Given the description of an element on the screen output the (x, y) to click on. 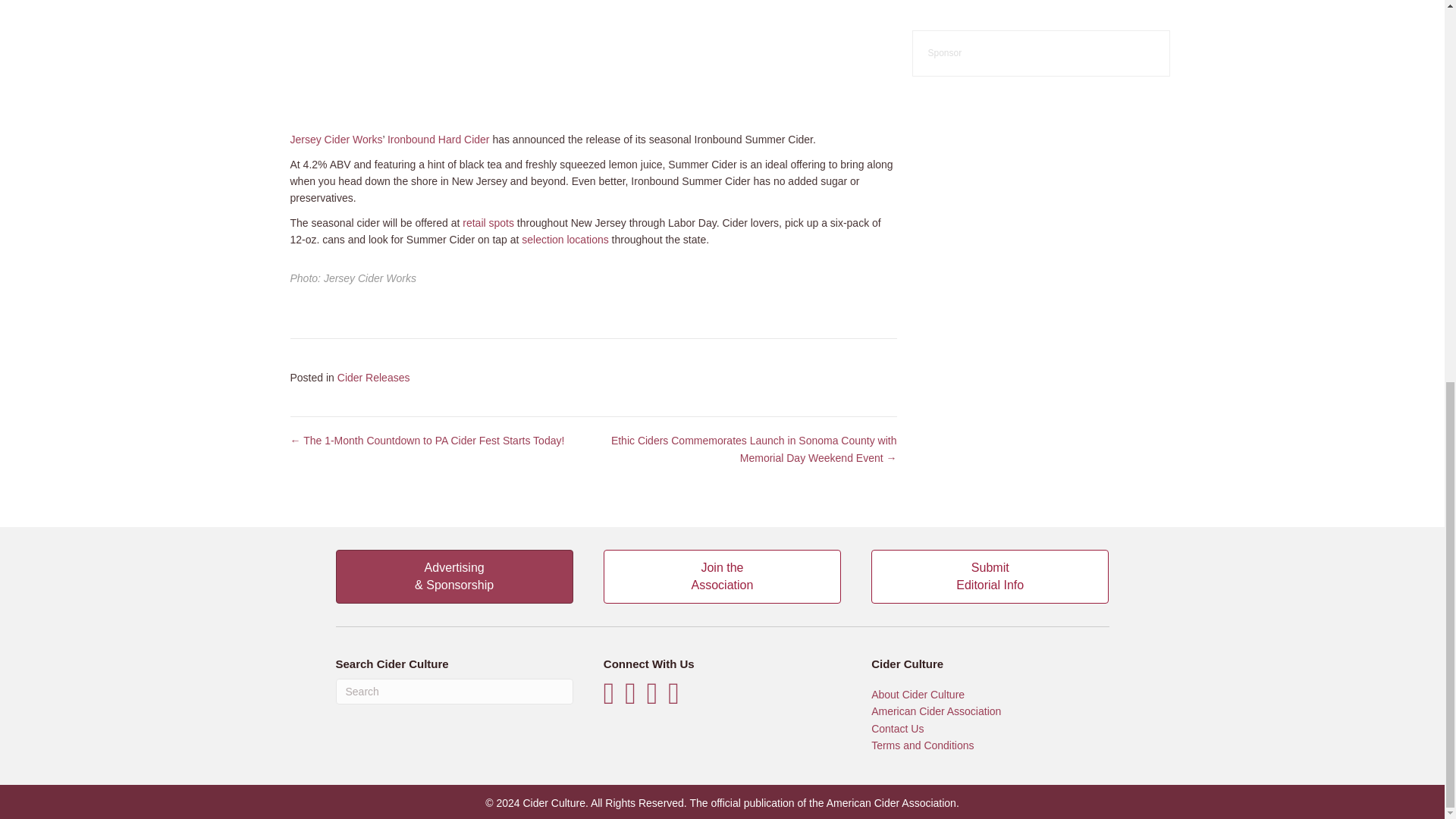
Terms and Conditions (922, 745)
About Cider Culture (916, 694)
Contact Us (896, 728)
Type and press Enter to search. (989, 576)
selection locations (453, 691)
Jersey Cider Works (564, 239)
Ironbound Hard Cider (722, 576)
retail spots (335, 139)
American Cider Association (438, 139)
Cider Releases (488, 223)
American Cider Association (891, 802)
